Given the description of an element on the screen output the (x, y) to click on. 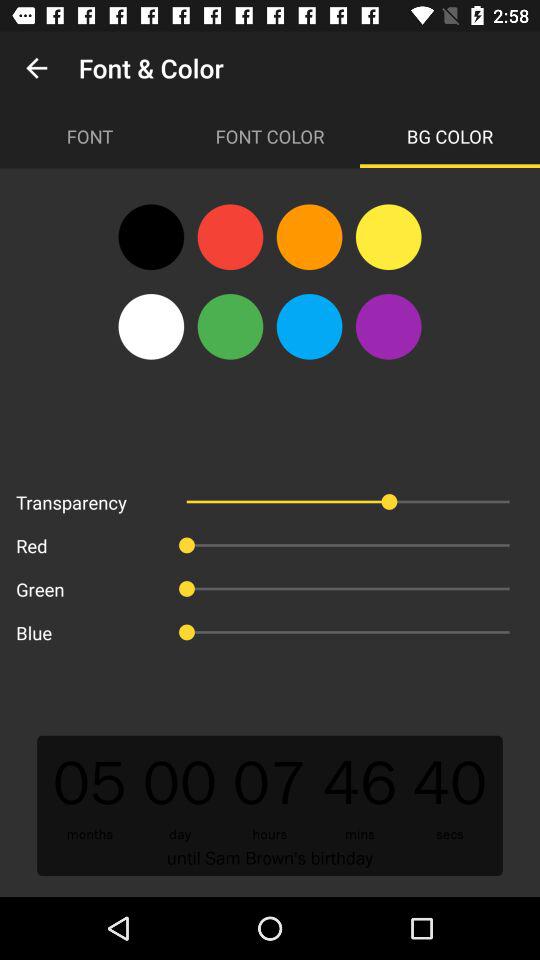
click icon above the font icon (36, 68)
